Given the description of an element on the screen output the (x, y) to click on. 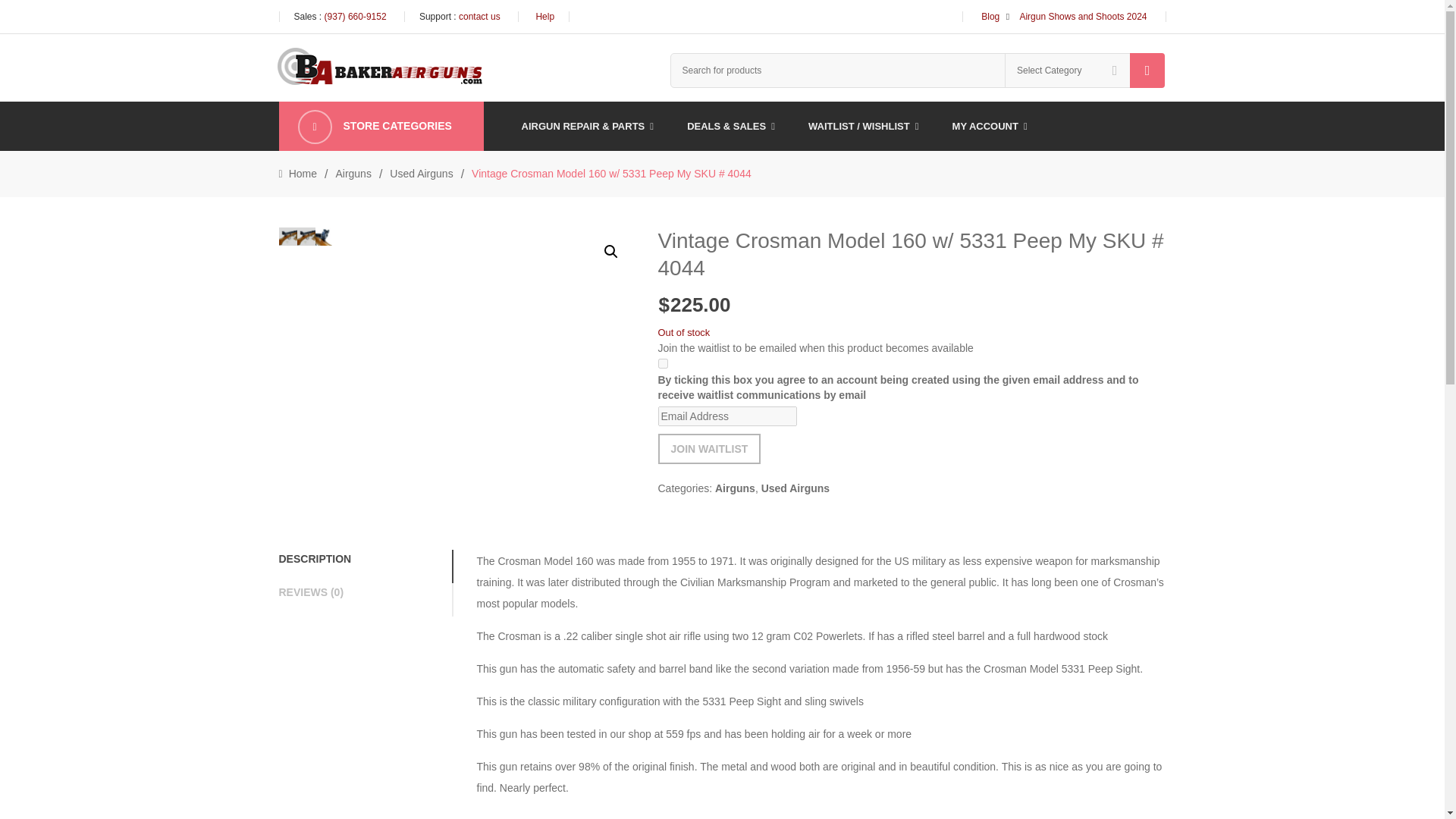
Help (544, 16)
Search (1146, 70)
contact us (479, 16)
Airgun Shows and Shoots 2024 (1083, 16)
Blog (989, 16)
on (663, 363)
 Select Category (1067, 70)
